Given the description of an element on the screen output the (x, y) to click on. 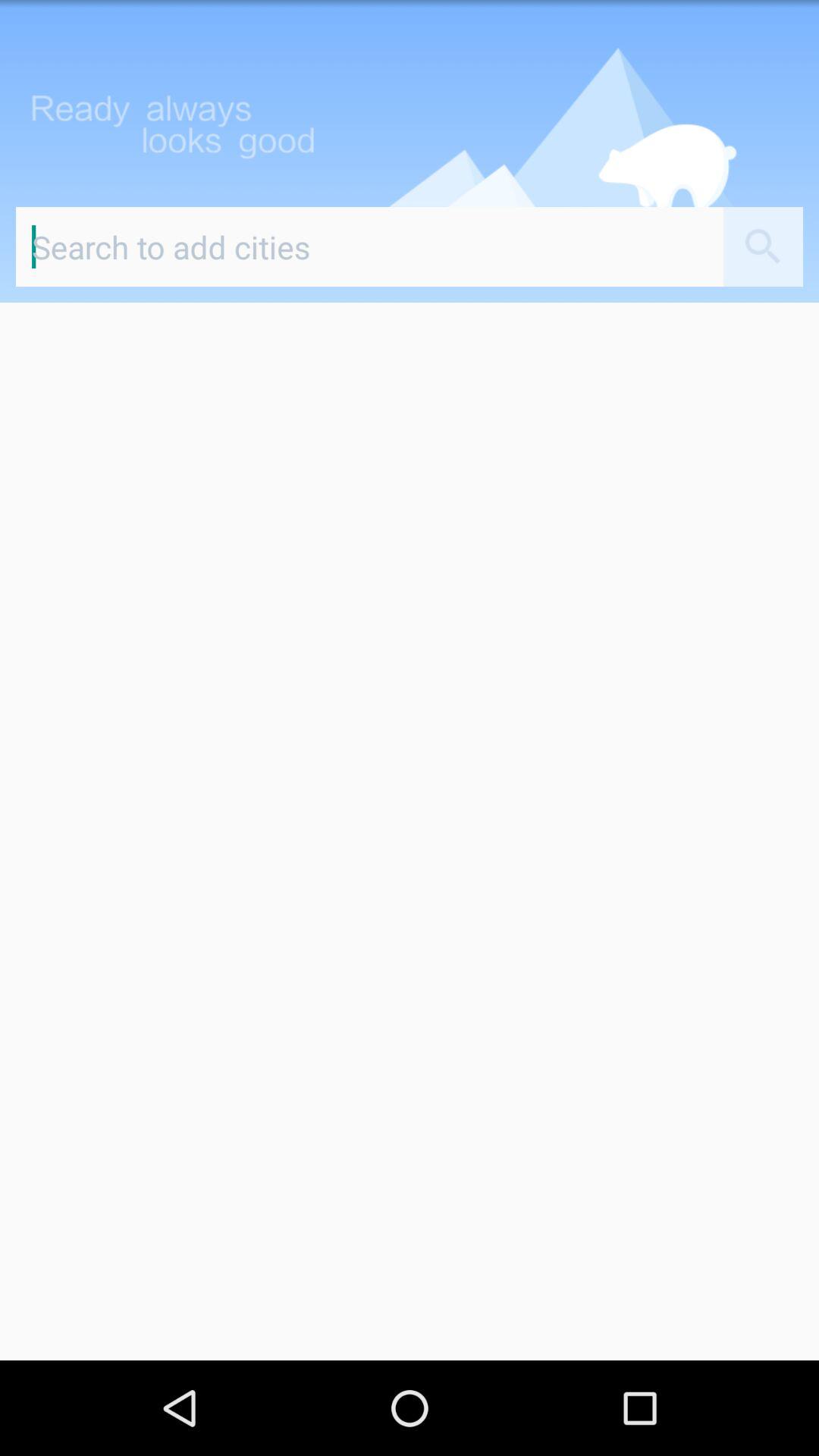
input city search text (369, 246)
